Given the description of an element on the screen output the (x, y) to click on. 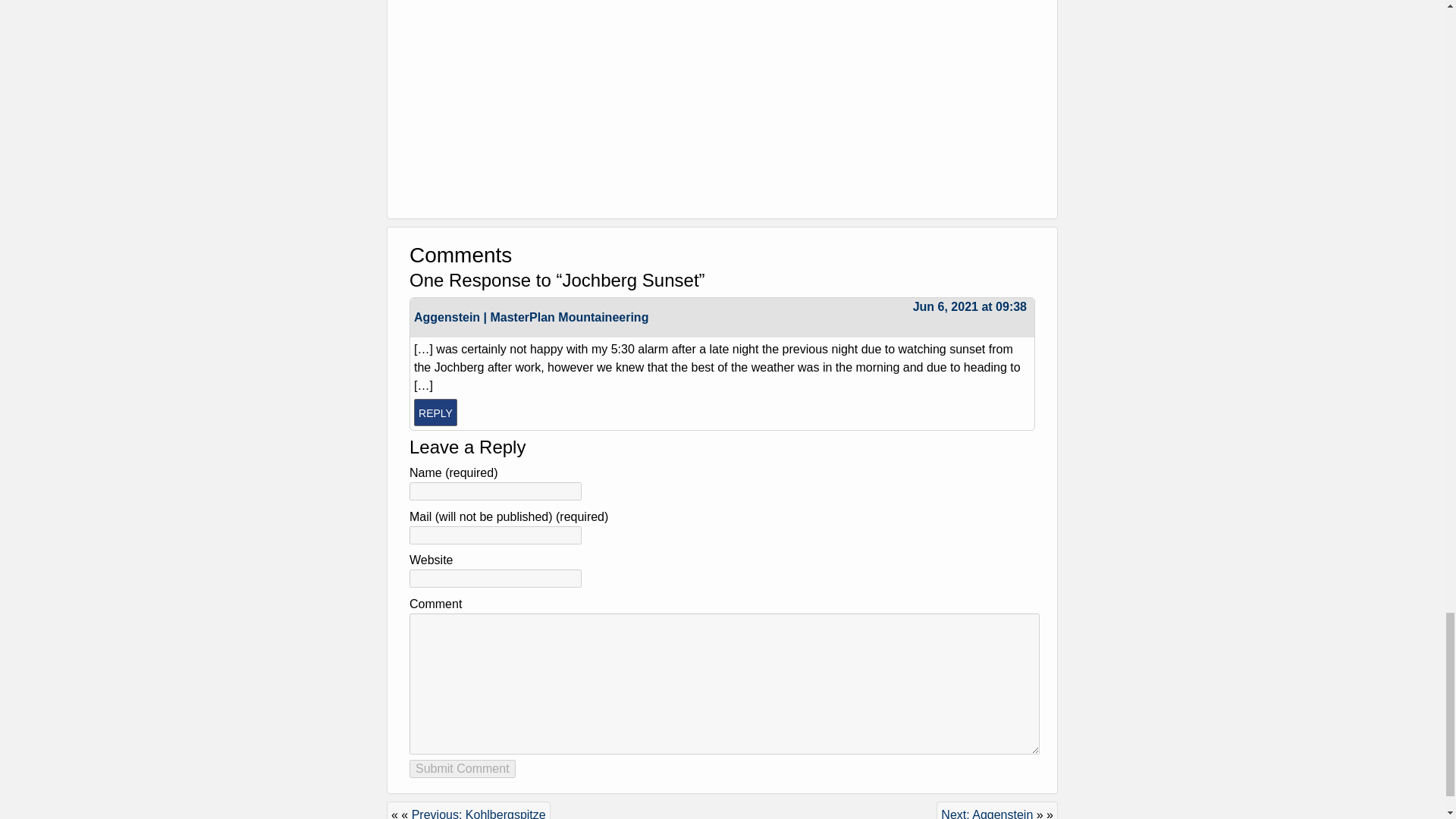
Submit Comment (462, 769)
